Given the description of an element on the screen output the (x, y) to click on. 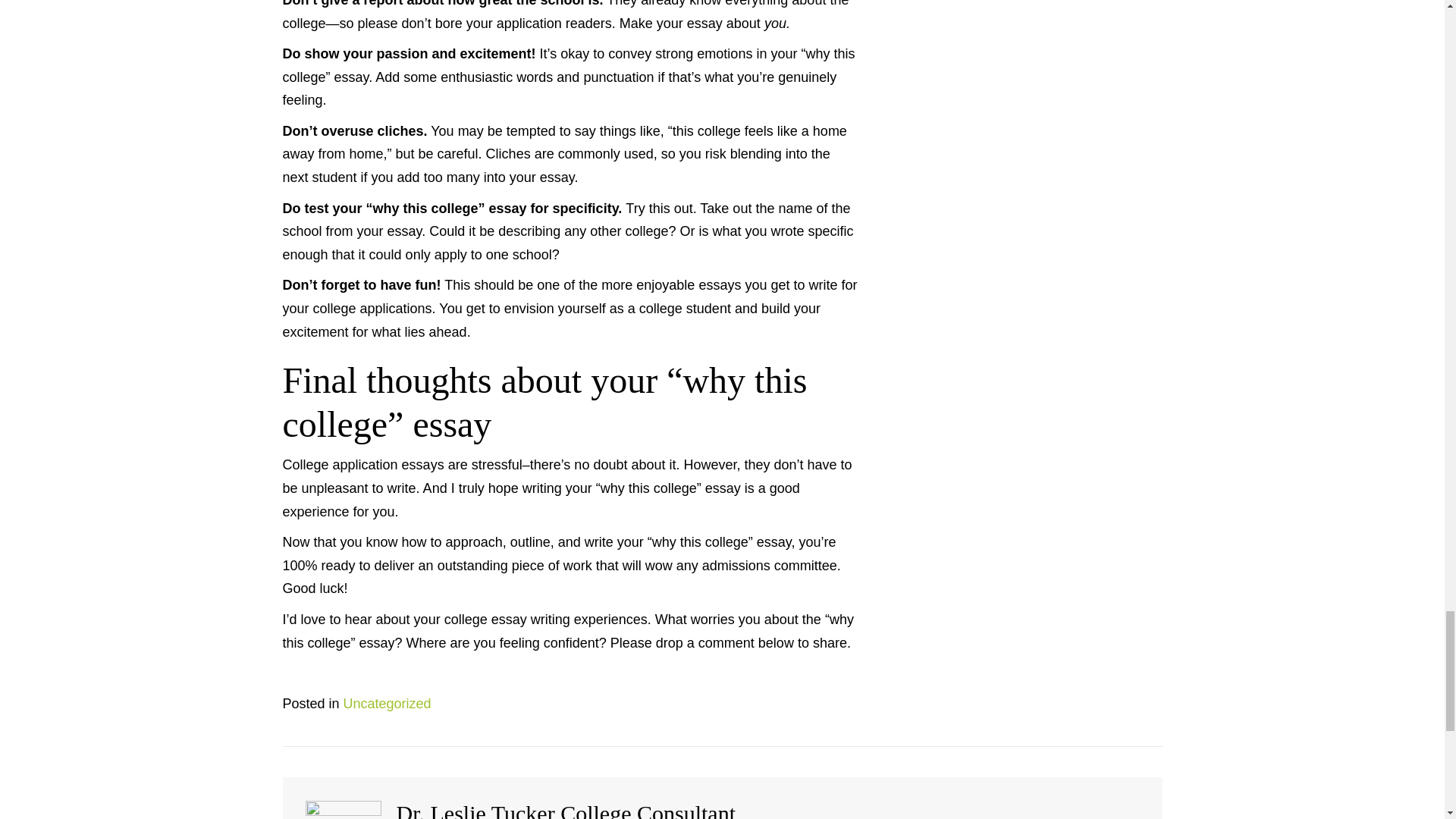
Uncategorized (386, 703)
